Given the description of an element on the screen output the (x, y) to click on. 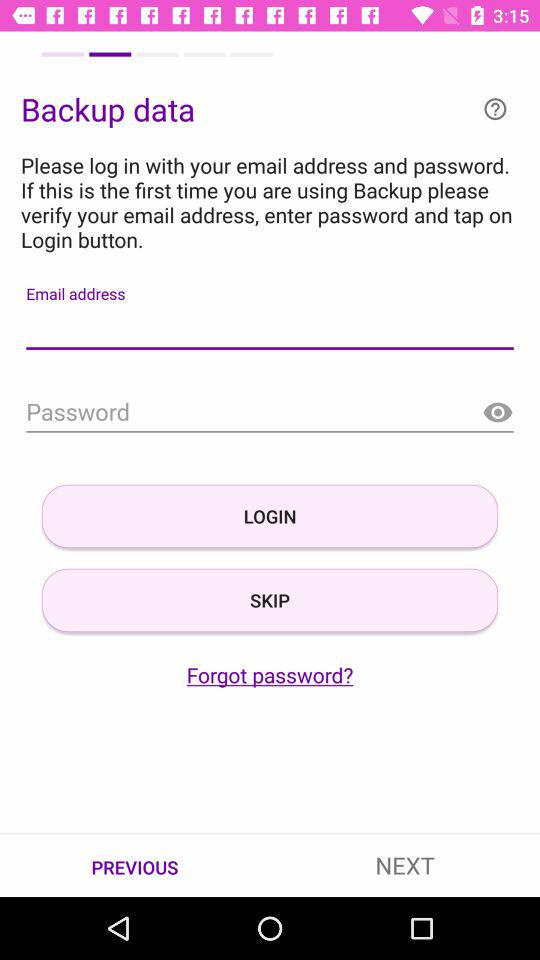
more information (495, 108)
